Given the description of an element on the screen output the (x, y) to click on. 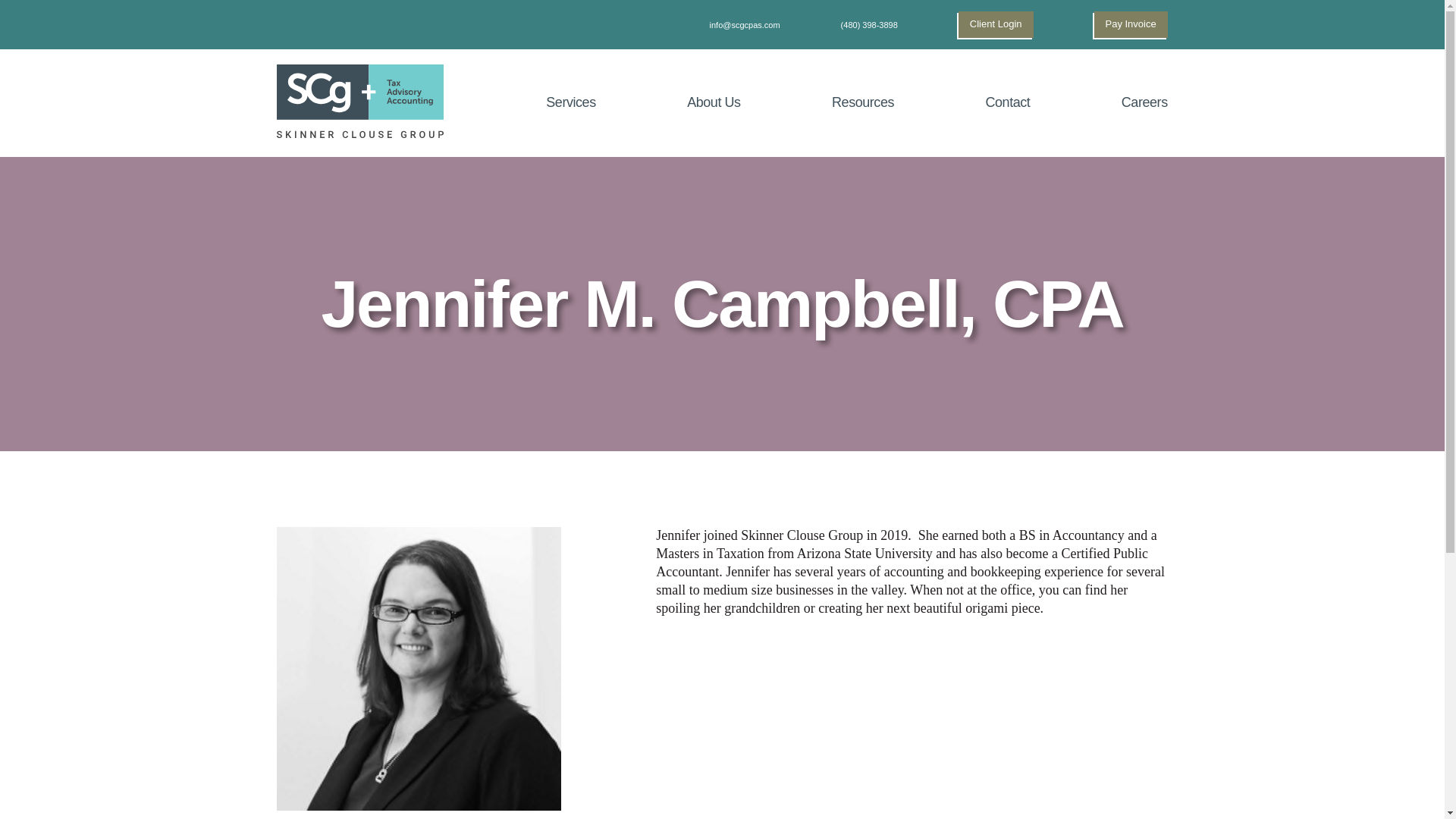
Services (569, 102)
Contact (1007, 102)
About Us (713, 102)
Pay Invoice (1130, 24)
Resources (863, 102)
Careers (1142, 102)
Client Login (995, 24)
